Given the description of an element on the screen output the (x, y) to click on. 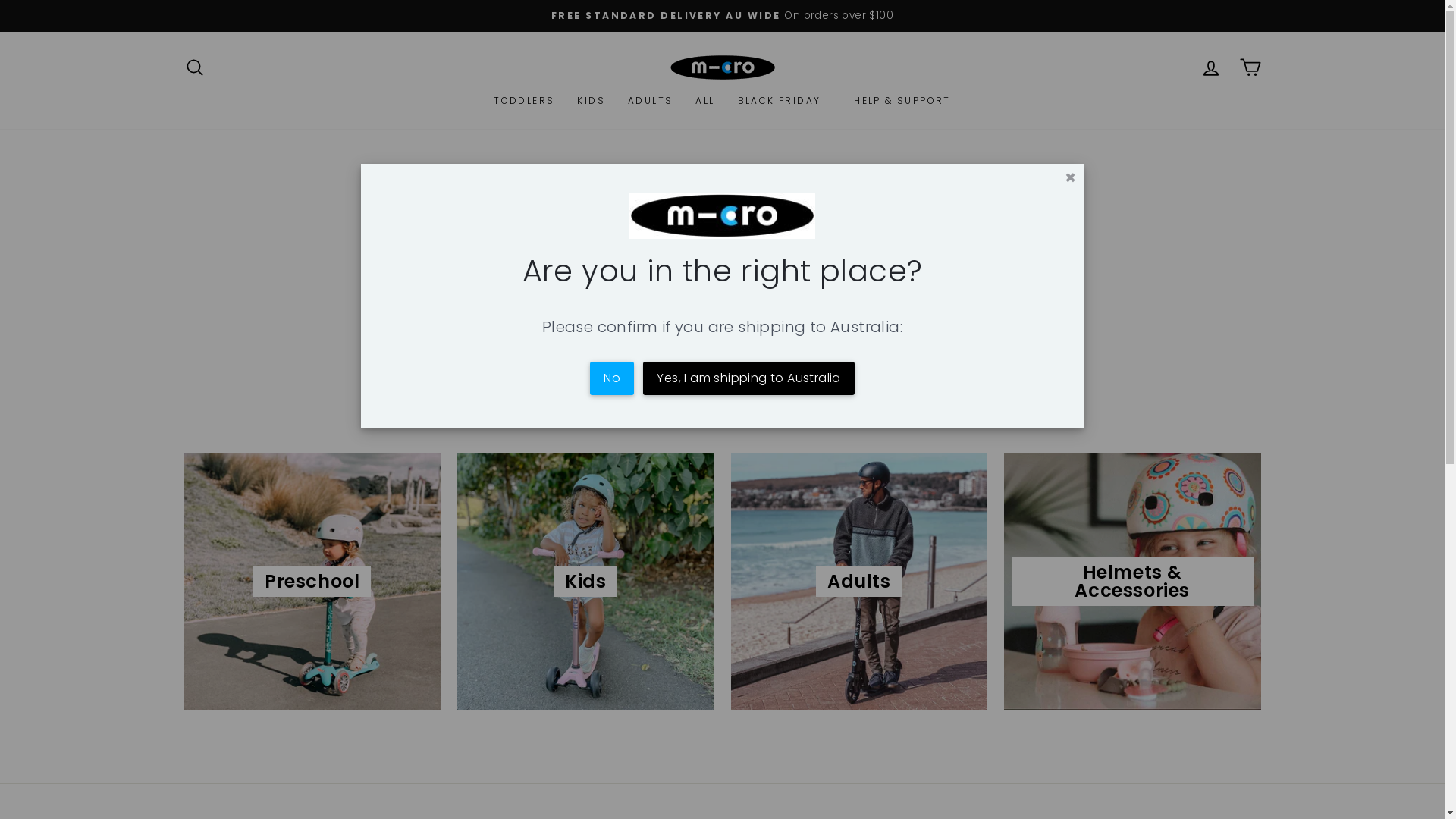
KIDS Element type: text (590, 100)
Kids Element type: text (585, 580)
Skip to content Element type: text (0, 0)
No Element type: text (611, 378)
PRICE MATCH PROMISEWe'll match it. Element type: text (722, 15)
ALL Element type: text (704, 100)
Adults Element type: text (859, 580)
CART Element type: text (1249, 66)
TODDLERS Element type: text (523, 100)
Preschool Element type: text (311, 580)
HELP & SUPPORT Element type: text (902, 100)
continue shopping Element type: text (996, 291)
SEARCH Element type: text (193, 66)
ADULTS Element type: text (650, 100)
Helmets & Accessories Element type: text (1132, 580)
LOG IN Element type: text (1210, 66)
